Given the description of an element on the screen output the (x, y) to click on. 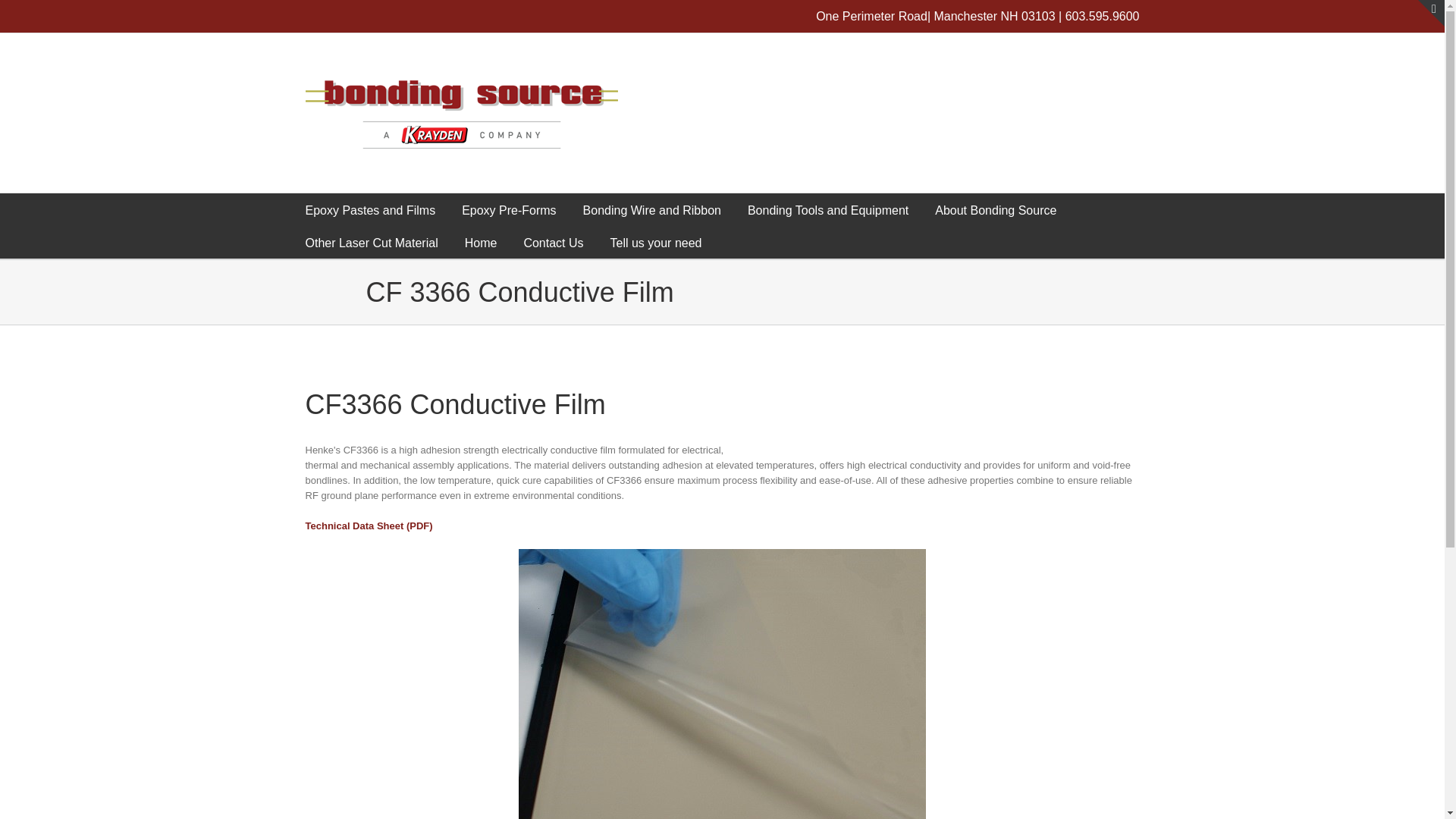
Tell us your need (655, 242)
Other Laser Cut Material (371, 242)
About Bonding Source (995, 209)
Home (480, 242)
Bonding Wire and Ribbon (651, 209)
Contact Us (552, 242)
Epoxy Pre-Forms (508, 209)
Epoxy Pastes and Films (369, 209)
Bonding Tools and Equipment (828, 209)
